Given the description of an element on the screen output the (x, y) to click on. 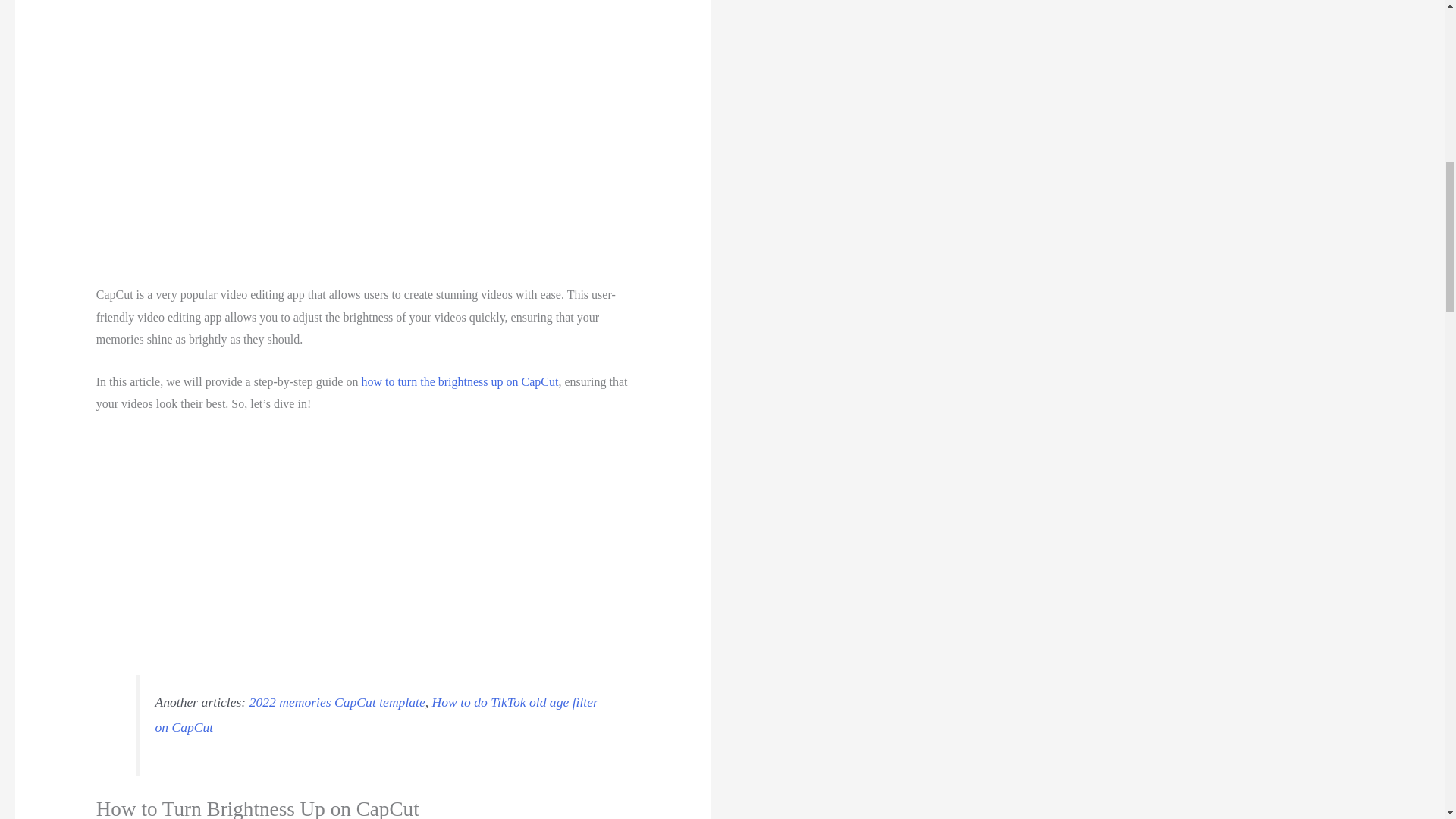
how to turn the brightness up on CapCut (459, 381)
2022 memories CapCut template (336, 702)
How to do TikTok old age filter on CapCut (376, 714)
2022 memories capcut template (336, 702)
Advertisement (362, 540)
how to turn brightness up on capcut (459, 381)
how to do tiktok old age filter on capcut (376, 714)
